Given the description of an element on the screen output the (x, y) to click on. 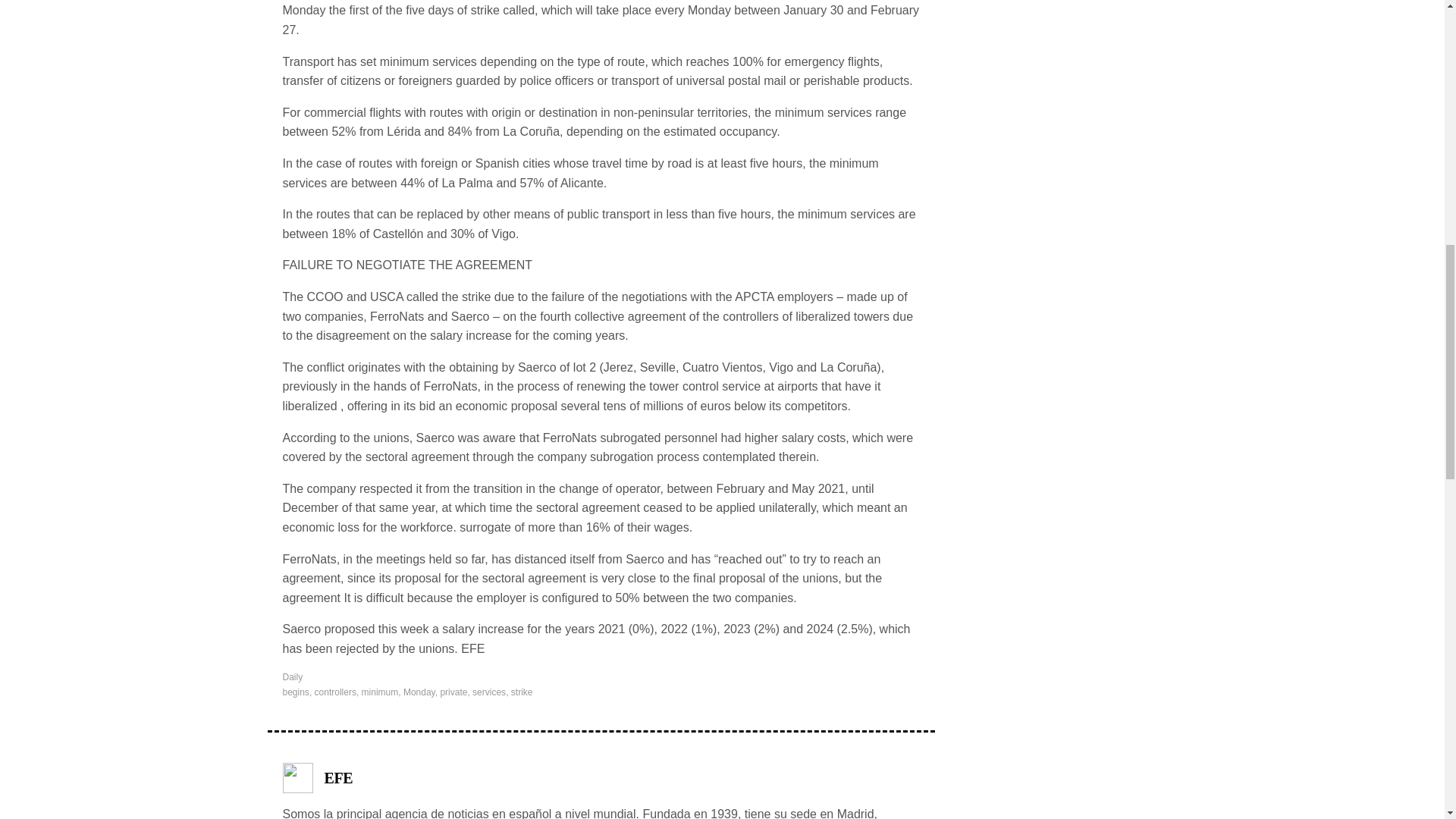
EFE (338, 777)
Monday (419, 692)
strike (521, 692)
minimum (379, 692)
private (453, 692)
Daily (292, 676)
begins (295, 692)
controllers (335, 692)
services (488, 692)
